Given the description of an element on the screen output the (x, y) to click on. 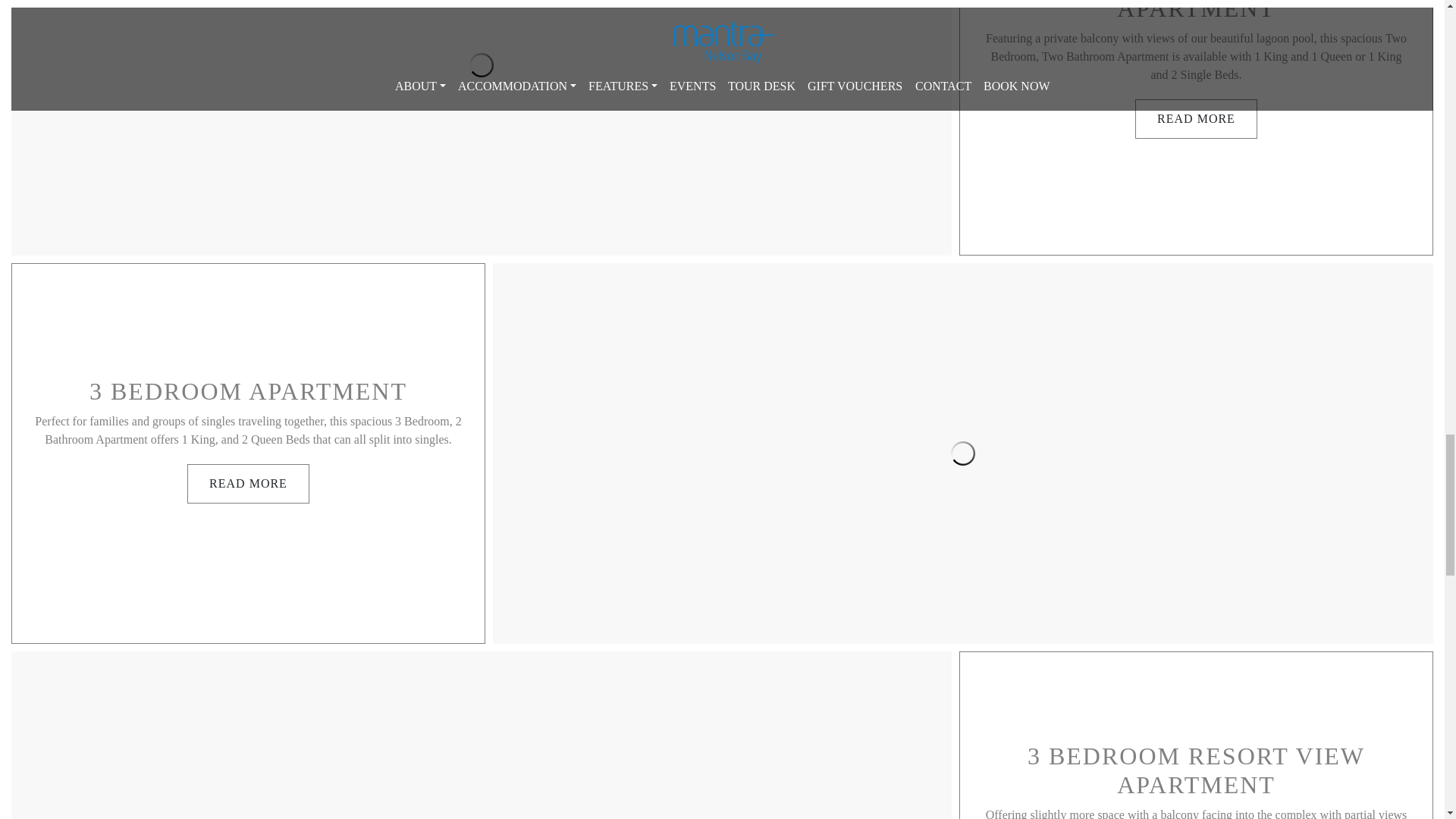
READ MORE (247, 483)
READ MORE (1196, 118)
